Given the description of an element on the screen output the (x, y) to click on. 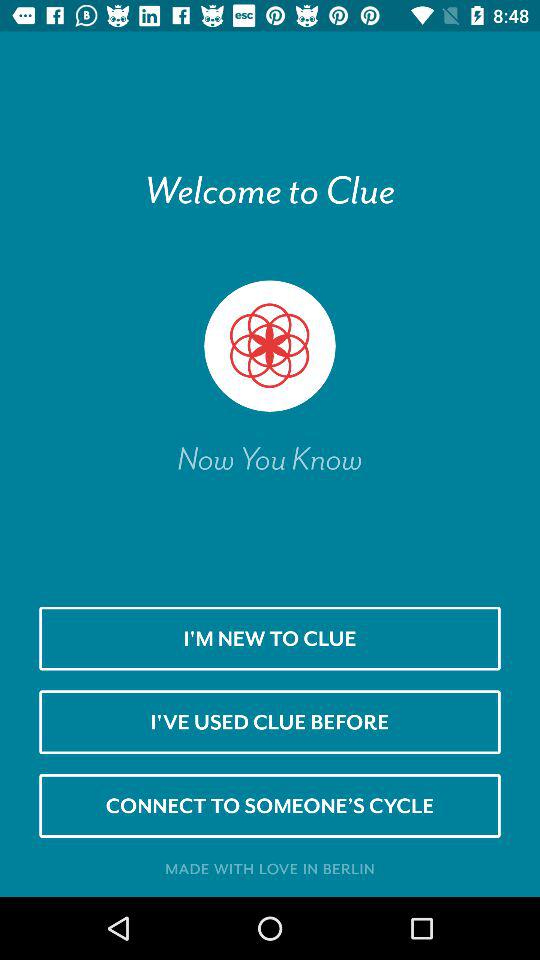
open icon above made with love app (269, 805)
